Given the description of an element on the screen output the (x, y) to click on. 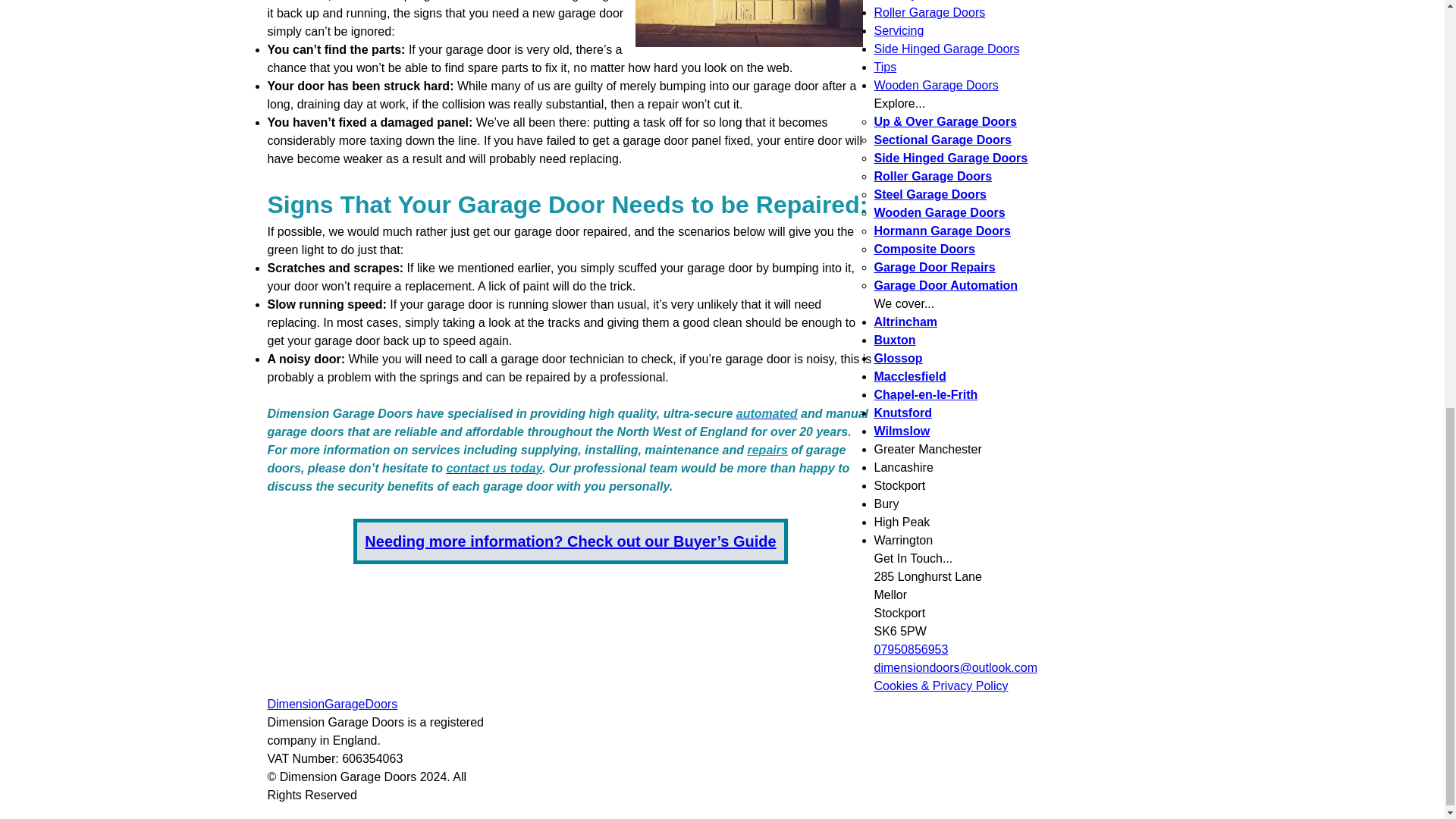
automated (766, 413)
repairs (766, 449)
